Given the description of an element on the screen output the (x, y) to click on. 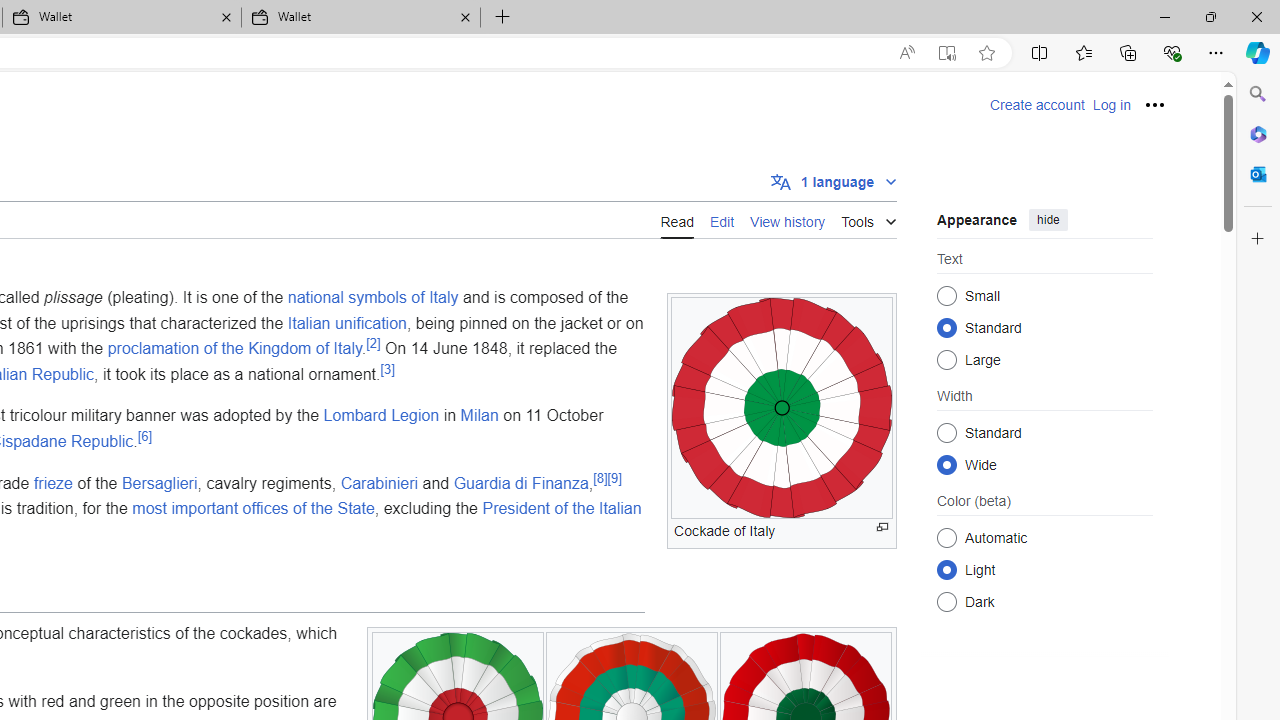
Class: mw-list-item mw-list-item-js (1044, 569)
[2] (373, 342)
Carabinieri (379, 482)
Italian unification (346, 322)
Large (946, 359)
Standard (946, 431)
Tools (868, 218)
Edit (721, 219)
[8] (600, 478)
Class: mw-file-description (782, 407)
